Given the description of an element on the screen output the (x, y) to click on. 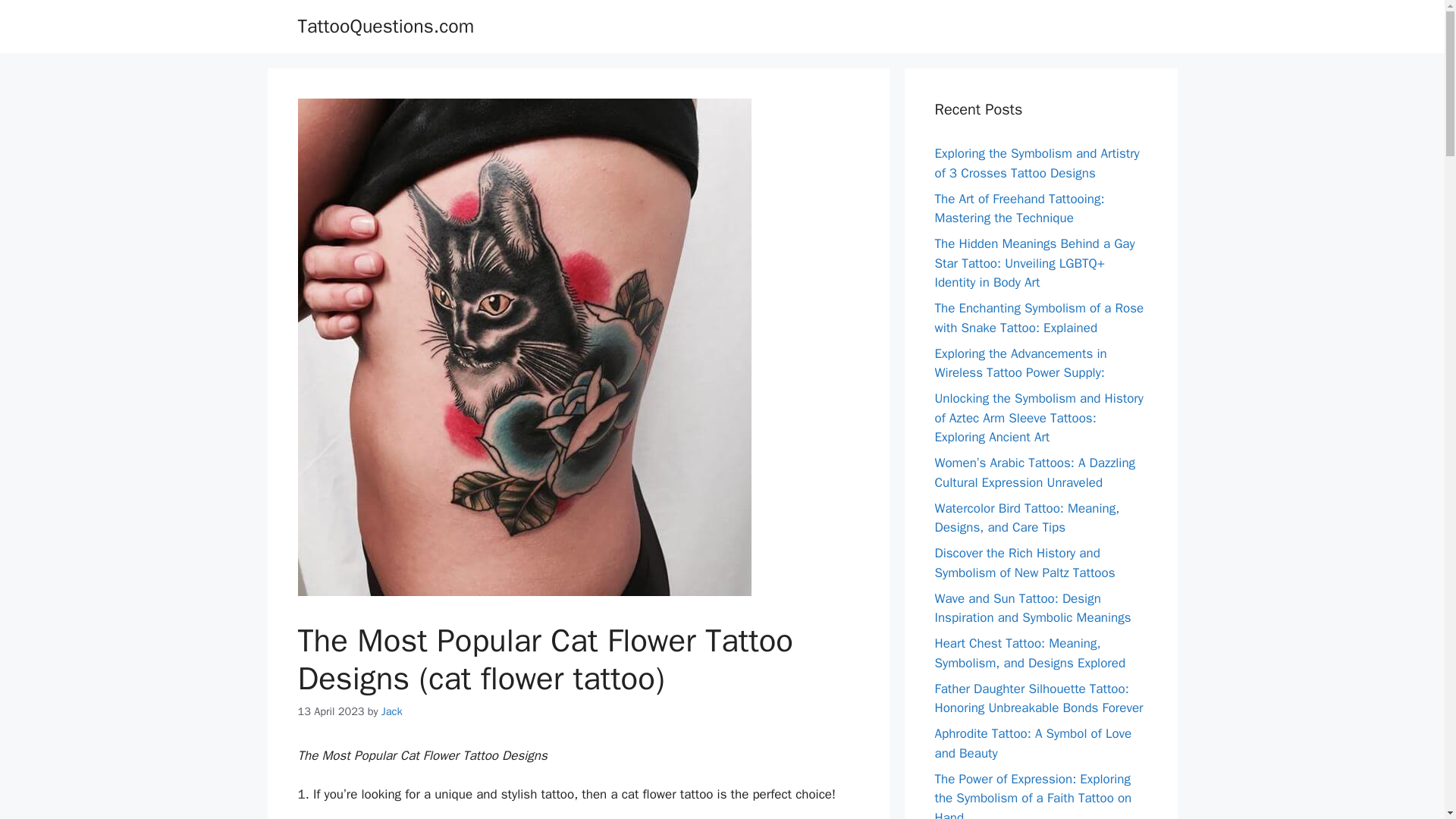
Aphrodite Tattoo: A Symbol of Love and Beauty (1032, 743)
Exploring the Advancements in Wireless Tattoo Power Supply: (1020, 363)
Watercolor Bird Tattoo: Meaning, Designs, and Care Tips (1026, 518)
The Art of Freehand Tattooing: Mastering the Technique (1018, 208)
